Given the description of an element on the screen output the (x, y) to click on. 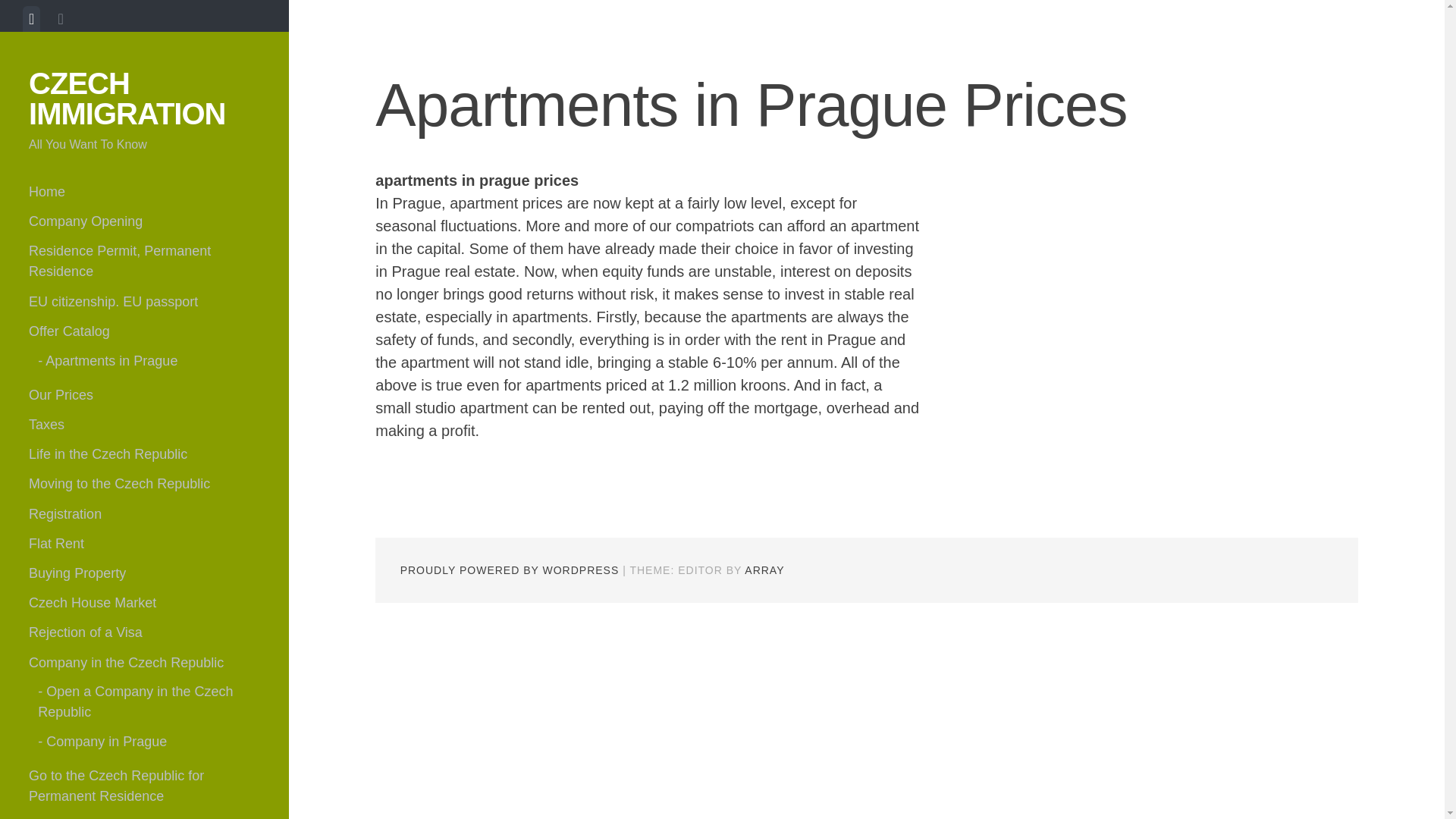
PROUDLY POWERED BY WORDPRESS (510, 570)
Moving to the Czech Republic (144, 483)
CZECH IMMIGRATION (127, 98)
Rejection of a Visa (144, 632)
Taxes (144, 424)
Company Opening (144, 221)
Registration (144, 513)
ARRAY (764, 570)
Czech House Market (144, 603)
EU citizenship. EU passport (144, 301)
Our Prices (144, 395)
Buying Property (144, 573)
Apartments in Prague (148, 360)
Life in the Czech Republic (144, 454)
Residence Permit, Permanent Residence (144, 261)
